Given the description of an element on the screen output the (x, y) to click on. 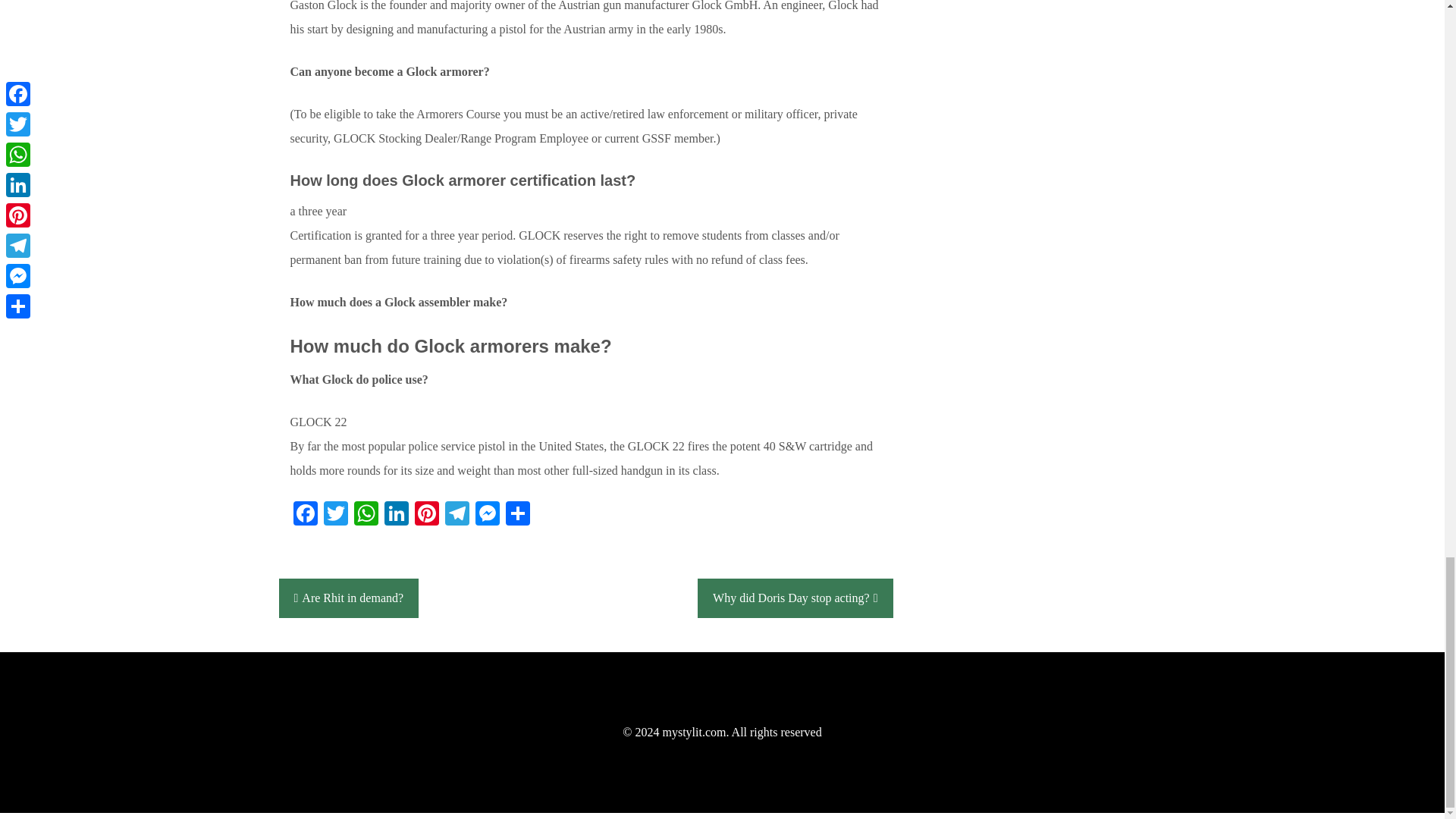
Are Rhit in demand? (349, 598)
Facebook (304, 515)
Twitter (335, 515)
WhatsApp (365, 515)
Twitter (335, 515)
Facebook (304, 515)
Pinterest (425, 515)
LinkedIn (395, 515)
Why did Doris Day stop acting? (794, 598)
Telegram (456, 515)
